Given the description of an element on the screen output the (x, y) to click on. 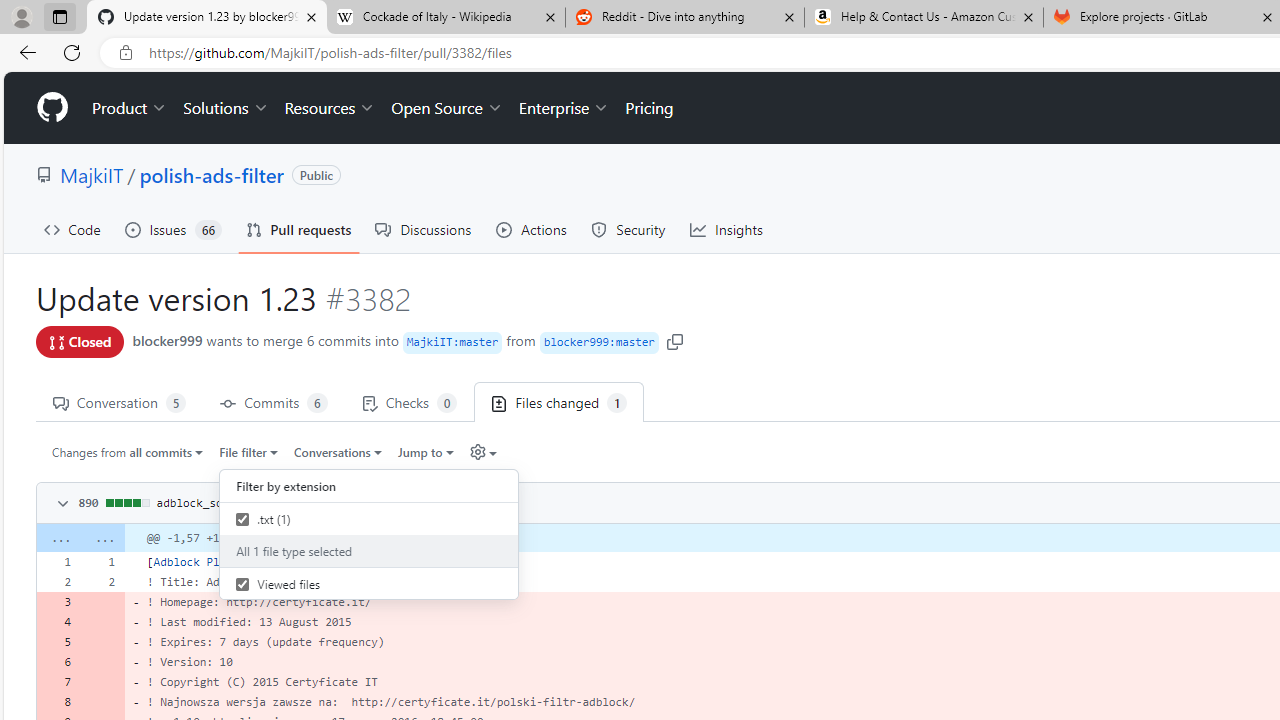
Class: SelectMenu js-file-filter (368, 538)
MajkiIT (92, 174)
Changes from all commits (127, 451)
Code (71, 229)
File filter (248, 451)
Viewed files (242, 583)
Code (71, 229)
adblock_social_filters/adblock_social_list.txt (308, 502)
Discussions (424, 229)
